Given the description of an element on the screen output the (x, y) to click on. 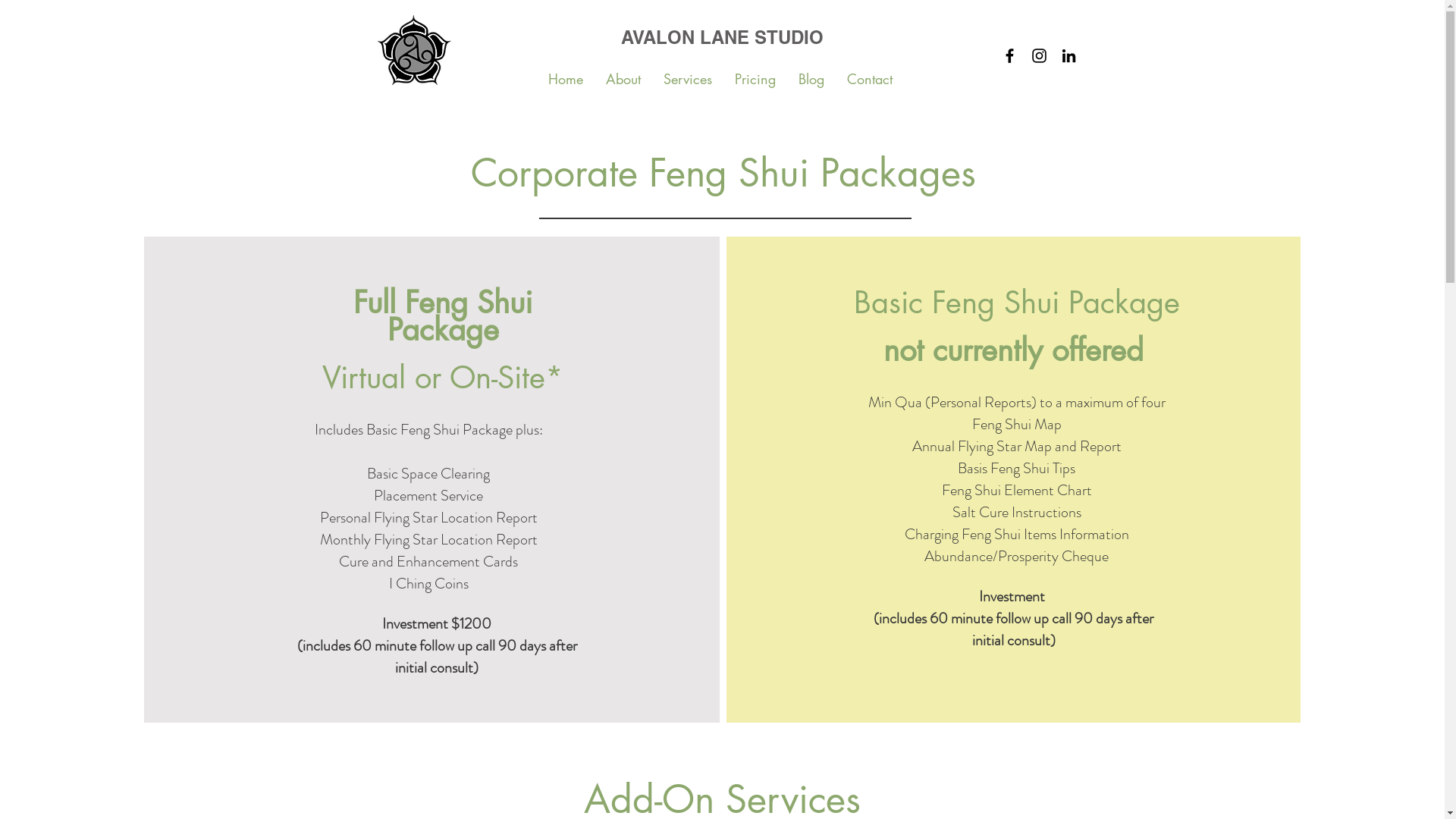
Home Element type: text (565, 79)
Blog Element type: text (811, 79)
Contact Element type: text (869, 79)
About Element type: text (623, 79)
AVALON LANE STUDIO Element type: text (722, 37)
